Given the description of an element on the screen output the (x, y) to click on. 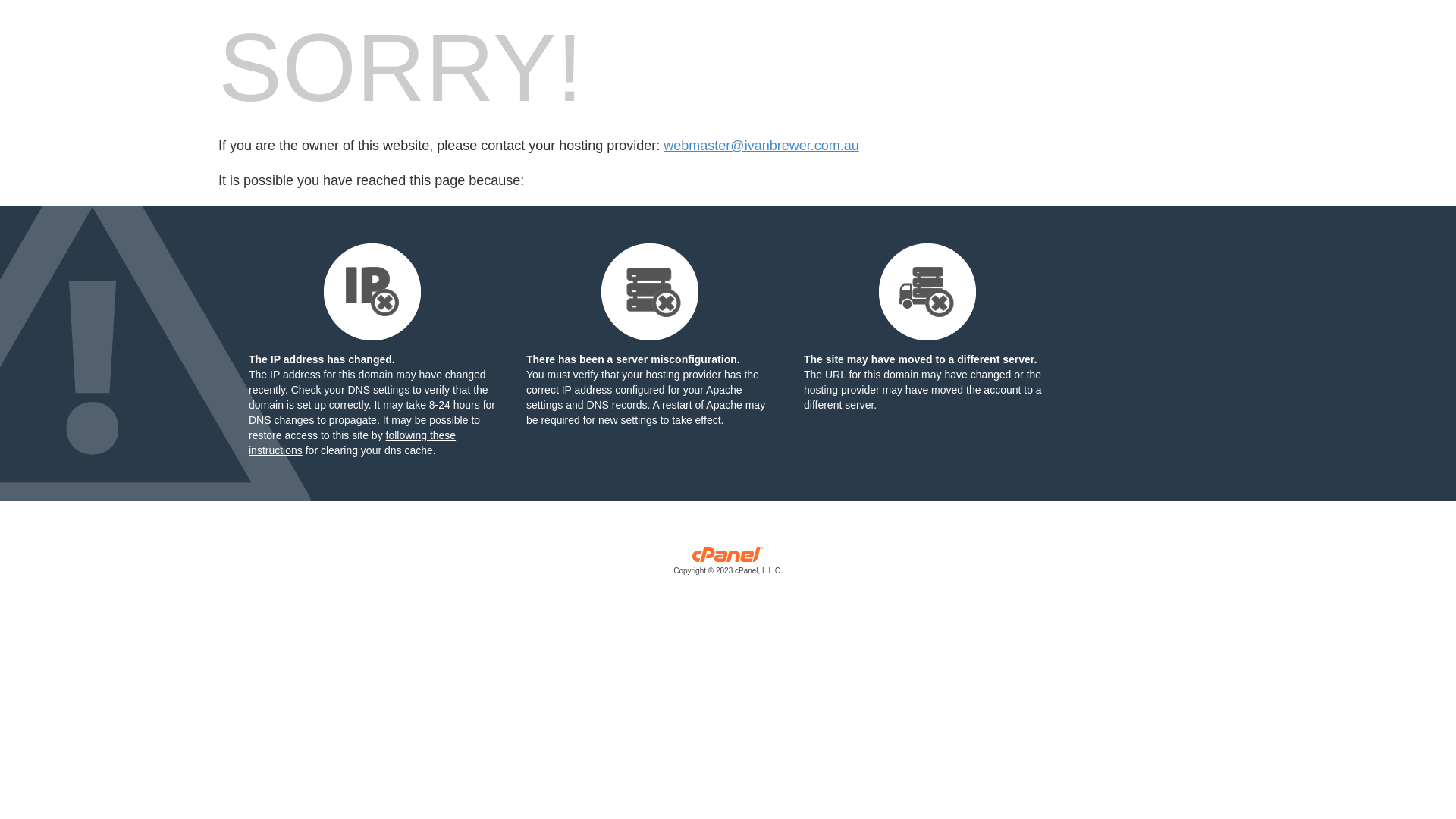
following these instructions Element type: text (351, 442)
webmaster@ivanbrewer.com.au Element type: text (760, 145)
